Given the description of an element on the screen output the (x, y) to click on. 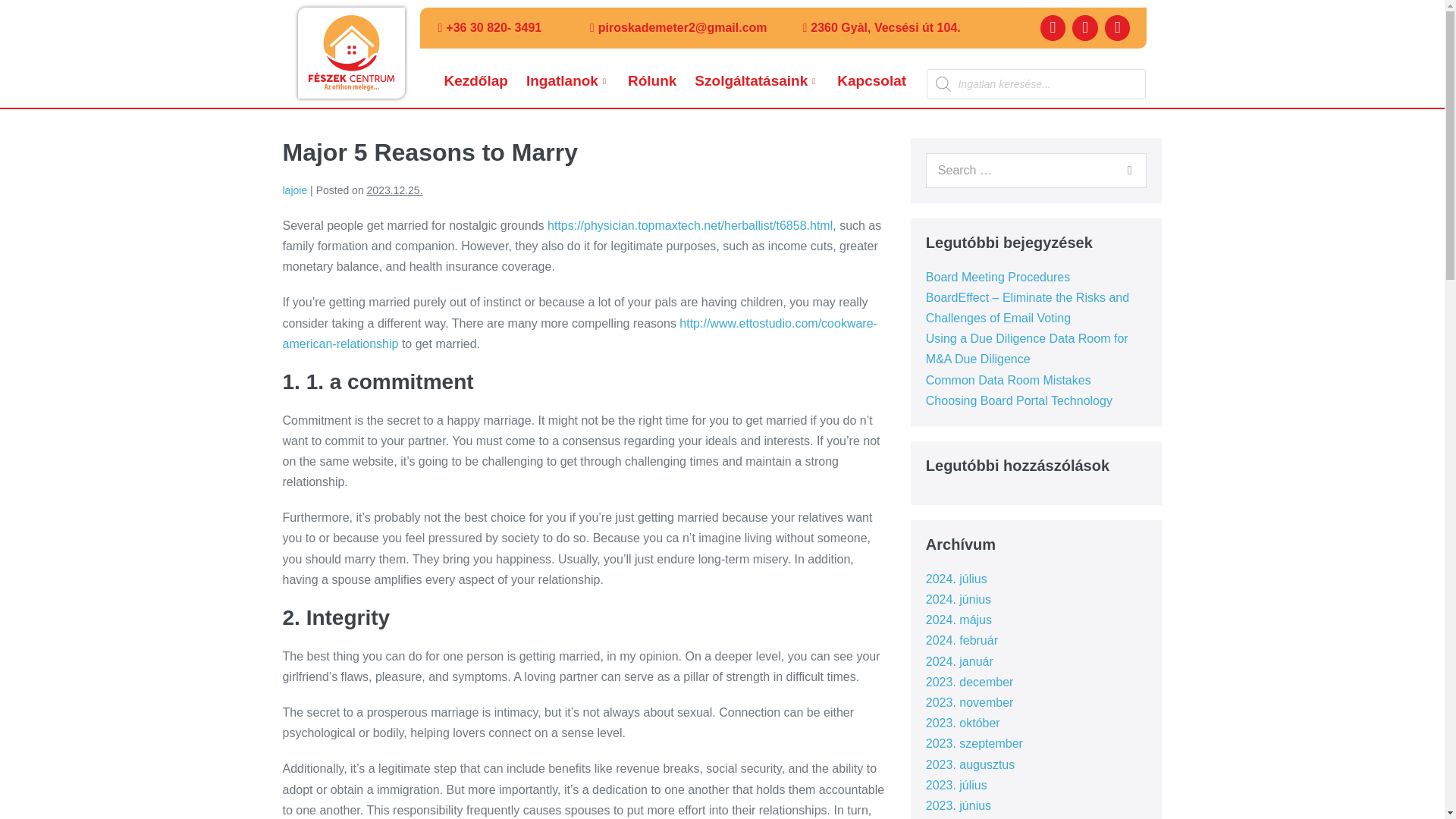
Ingatlanok (569, 81)
View all posts by lajoie (294, 190)
Press enter to search (1036, 170)
